Given the description of an element on the screen output the (x, y) to click on. 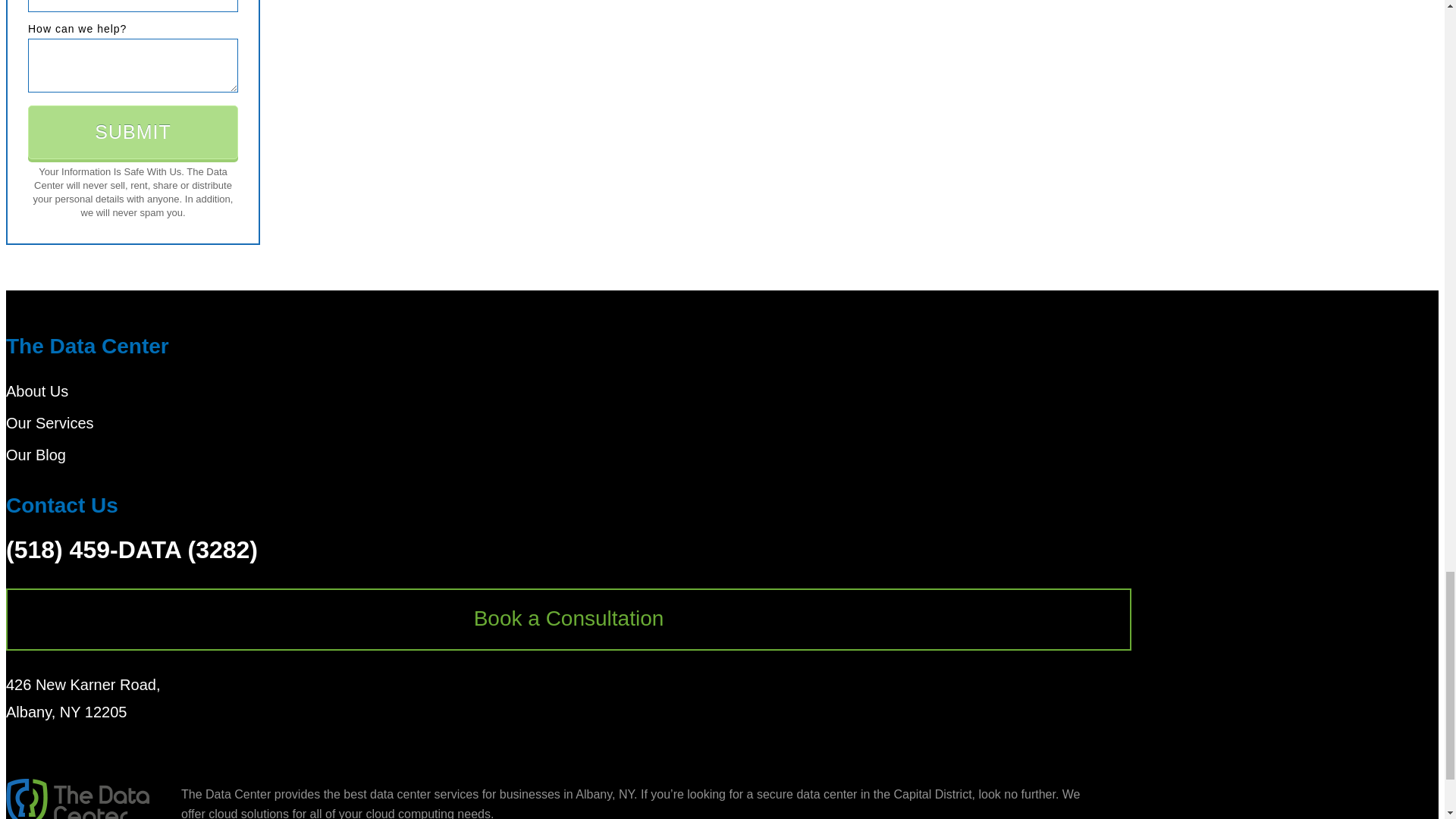
Book a Consultation (568, 619)
About Us (36, 391)
Submit (132, 131)
Our Services (49, 422)
Submit (132, 131)
Our Blog (35, 454)
